Given the description of an element on the screen output the (x, y) to click on. 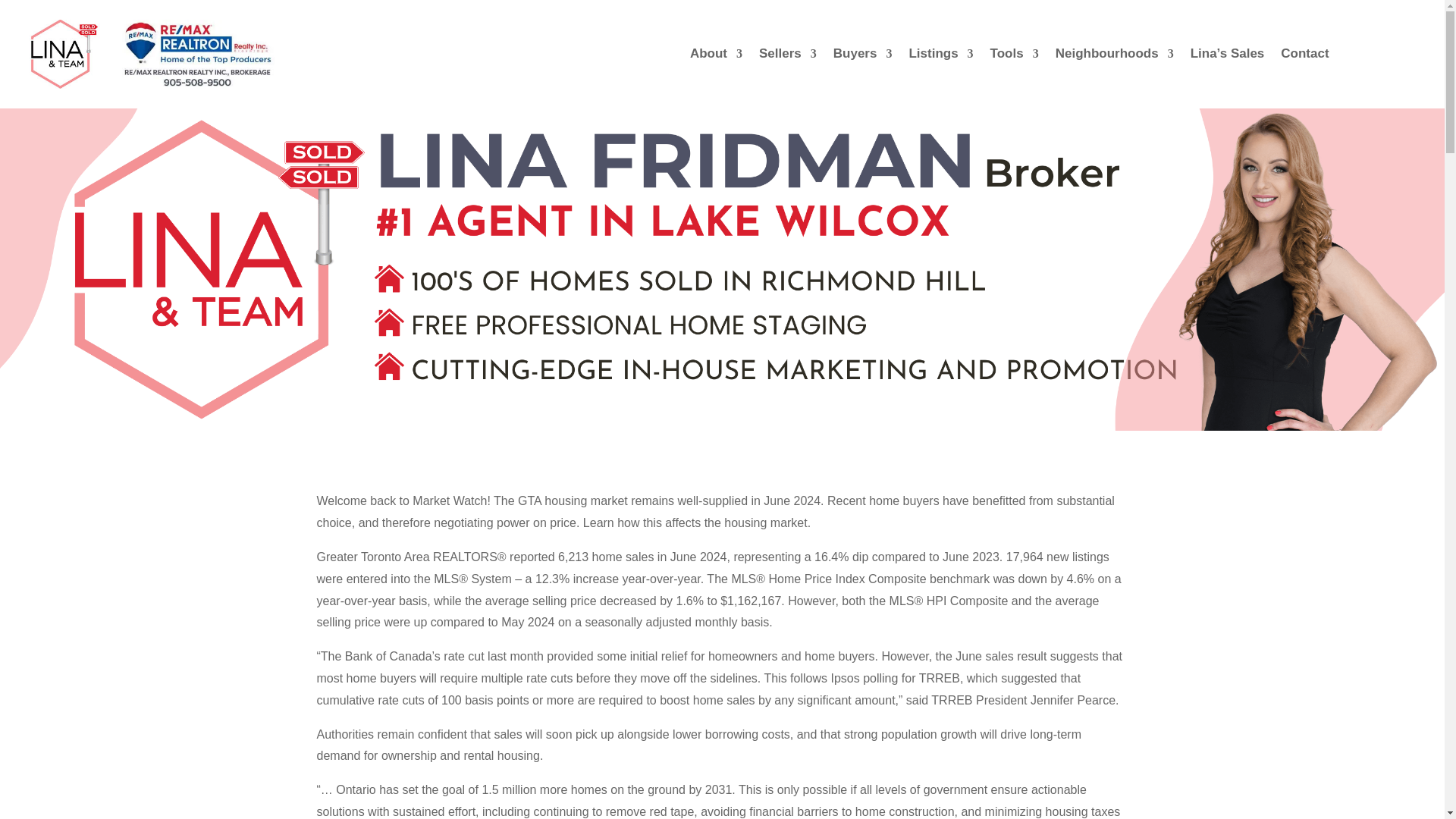
lina-remax-logo (139, 53)
Tools (1014, 56)
Listings (940, 56)
Sellers (787, 56)
About (716, 56)
Neighbourhoods (1114, 56)
Contact (1304, 56)
Buyers (862, 56)
